Given the description of an element on the screen output the (x, y) to click on. 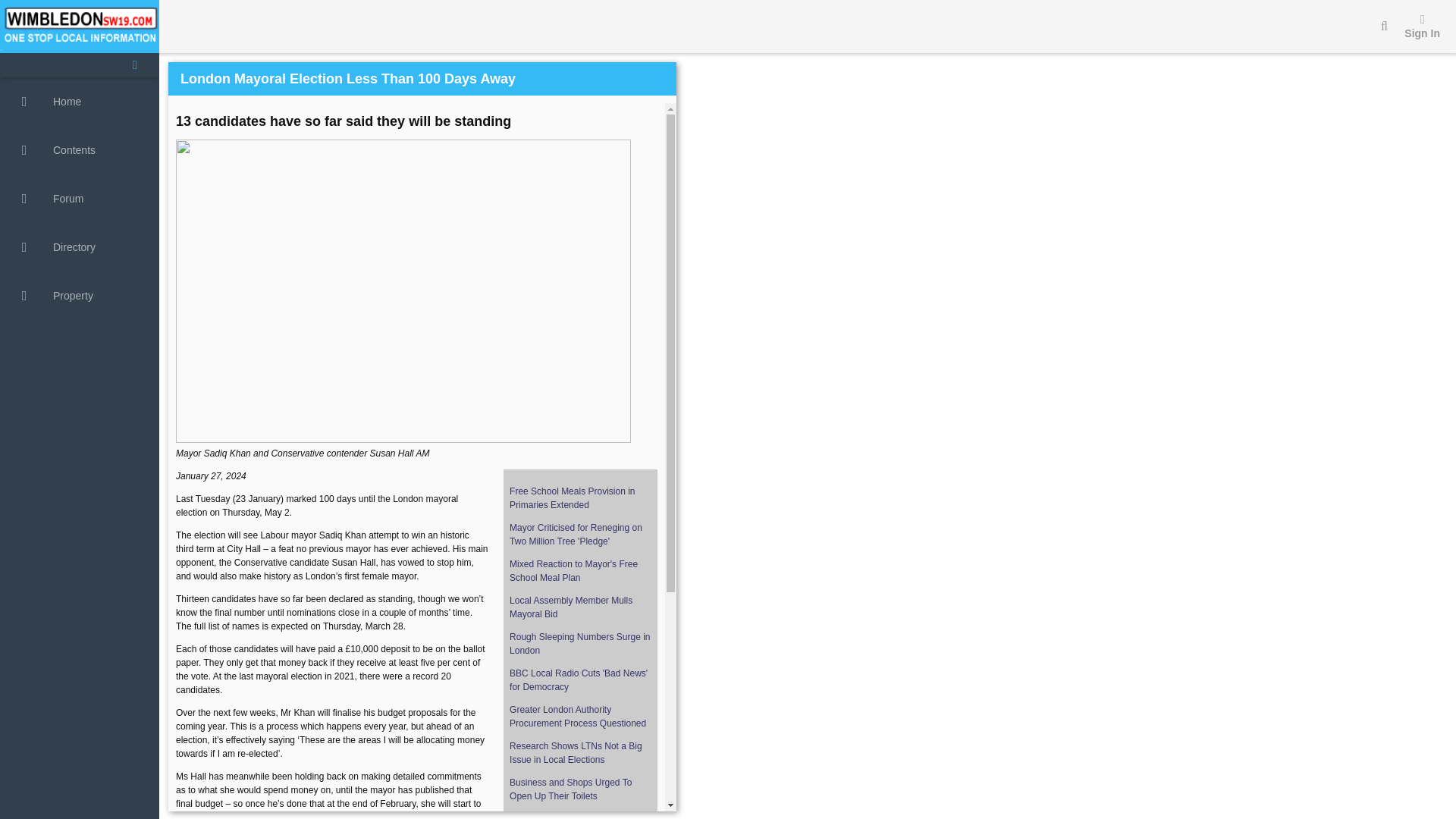
Greater London Authority Procurement Process Questioned (577, 716)
Rough Sleeping Numbers Surge in London (579, 643)
Local Assembly Member Mulls Mayoral Bid (570, 607)
Free School Meals Provision in Primaries Extended (571, 498)
BBC Local Radio Cuts 'Bad News' for Democracy (578, 680)
Mayor Criticised for Reneging on Two Million Tree 'Pledge' (575, 534)
Research Shows LTNs Not a Big Issue in Local Elections (575, 752)
Mixed Reaction to Mayor's Free School Meal Plan (573, 570)
Business and Shops Urged To Open Up Their Toilets (570, 789)
